Given the description of an element on the screen output the (x, y) to click on. 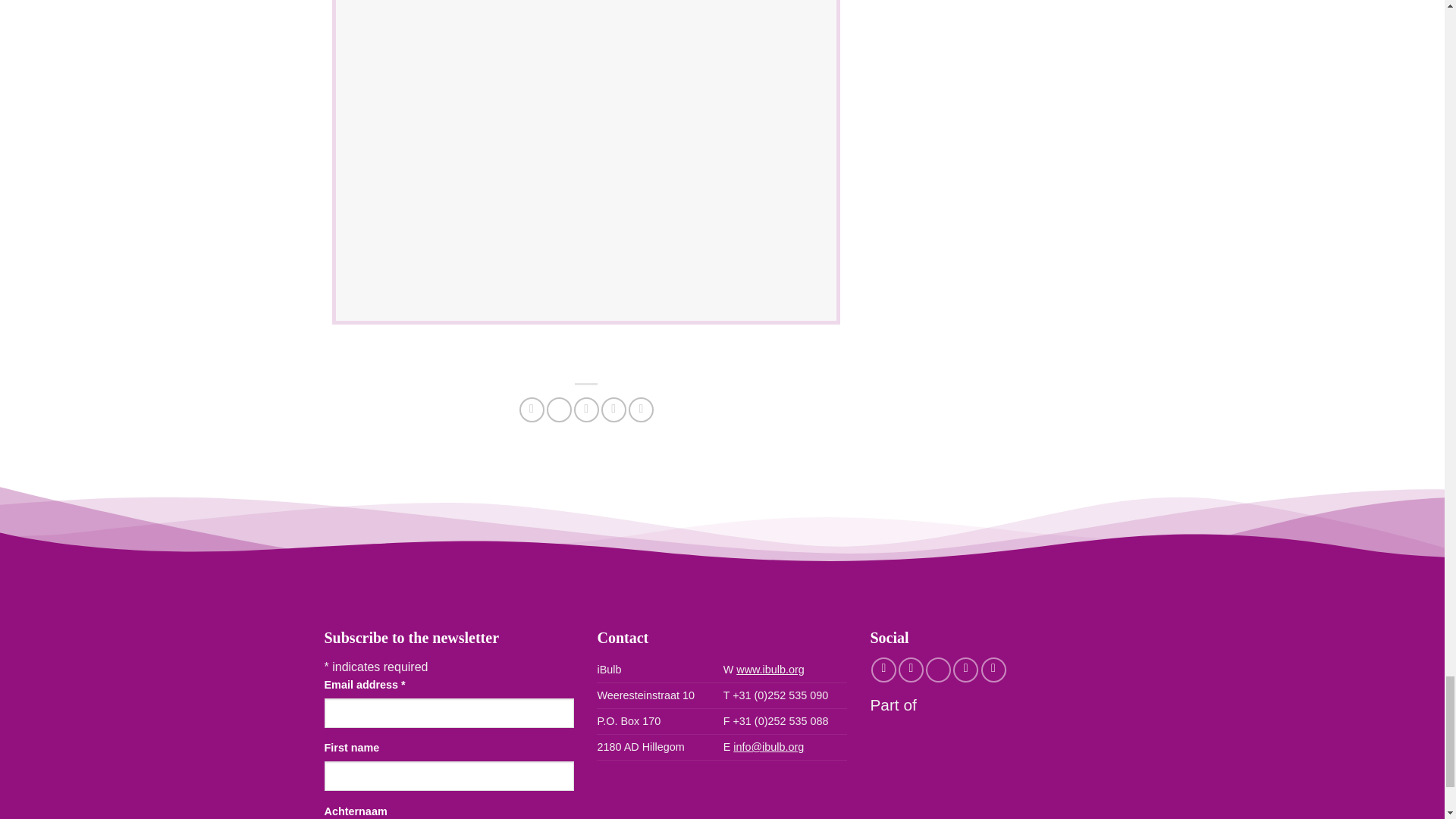
Email to a Friend (585, 409)
Pin on Pinterest (613, 409)
Share on X (559, 409)
Share on LinkedIn (640, 409)
Follow on YouTube (993, 669)
Follow on Instagram (910, 669)
www.ibulb.org (770, 669)
Share on Facebook (531, 409)
Follow on X (938, 669)
Follow on Facebook (883, 669)
Follow on Pinterest (965, 669)
